Given the description of an element on the screen output the (x, y) to click on. 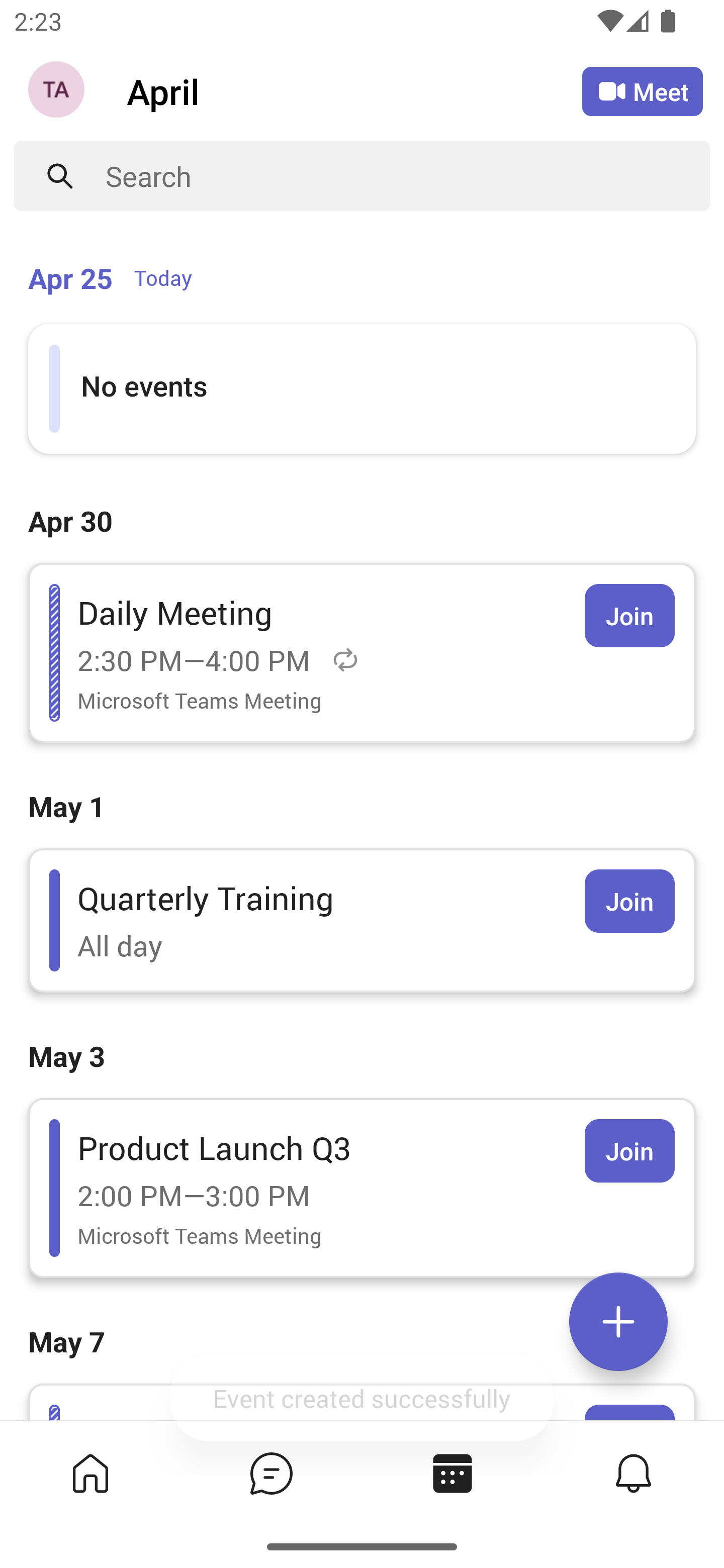
Navigation (58, 91)
Meet Meet now or join with an ID (642, 91)
April April Calendar Agenda View (354, 90)
Search (407, 176)
Join (629, 615)
Join (629, 900)
Join (629, 1150)
Expand meetings menu (618, 1321)
Home tab,1 of 4, not selected (90, 1472)
Chat tab,2 of 4, not selected (271, 1472)
Calendar tab, 3 of 4 (452, 1472)
Activity tab,4 of 4, not selected (633, 1472)
